Given the description of an element on the screen output the (x, y) to click on. 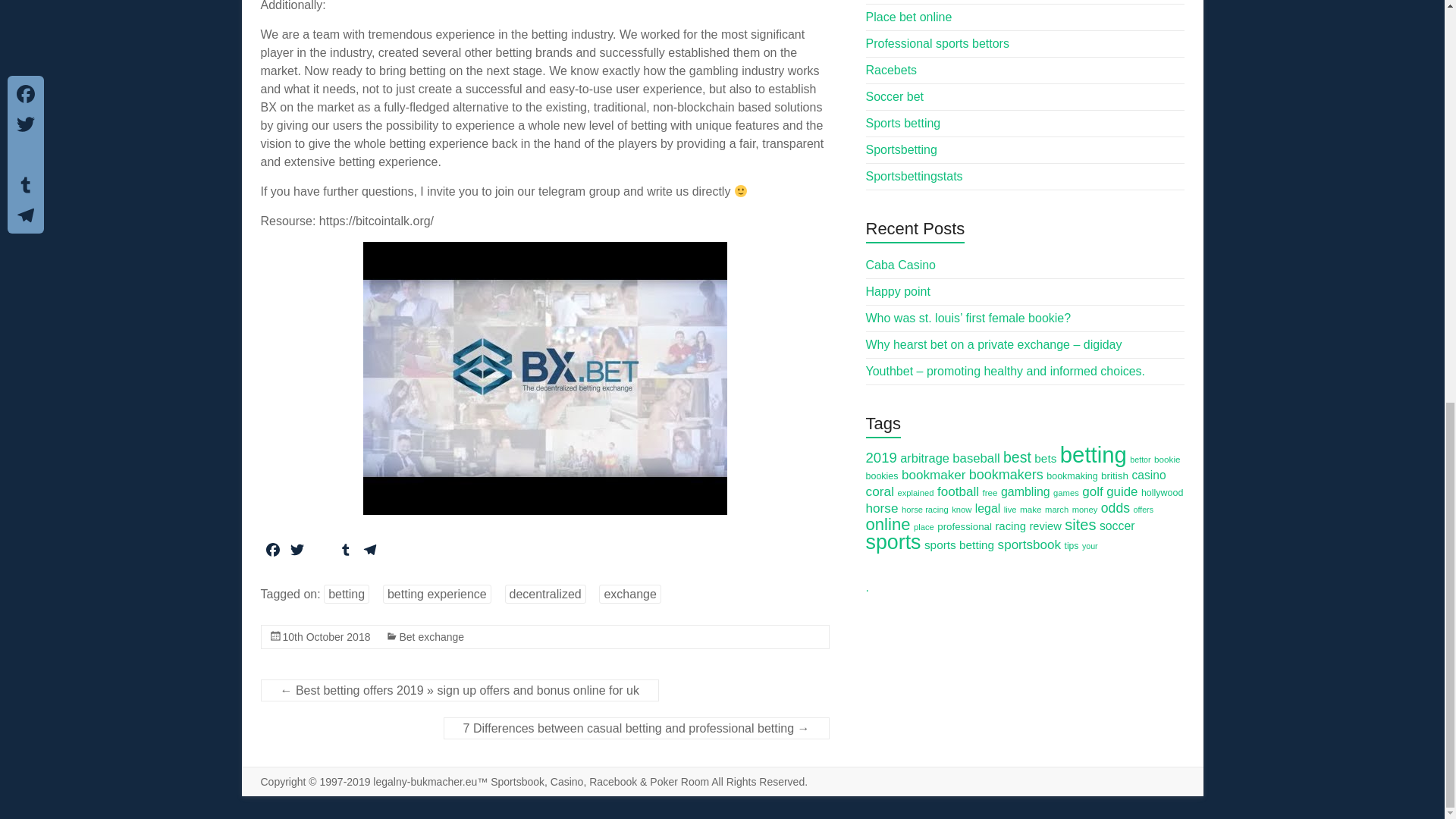
Telegram (369, 552)
Racebets (891, 69)
Facebook (272, 552)
12:20 pm (325, 636)
Place bet online (909, 16)
Telegram (369, 552)
Tumblr (345, 552)
Bet exchange (431, 636)
Pinterest (320, 552)
Twitter (296, 552)
Facebook (272, 552)
Tumblr (345, 552)
Pinterest (320, 552)
Twitter (296, 552)
